Given the description of an element on the screen output the (x, y) to click on. 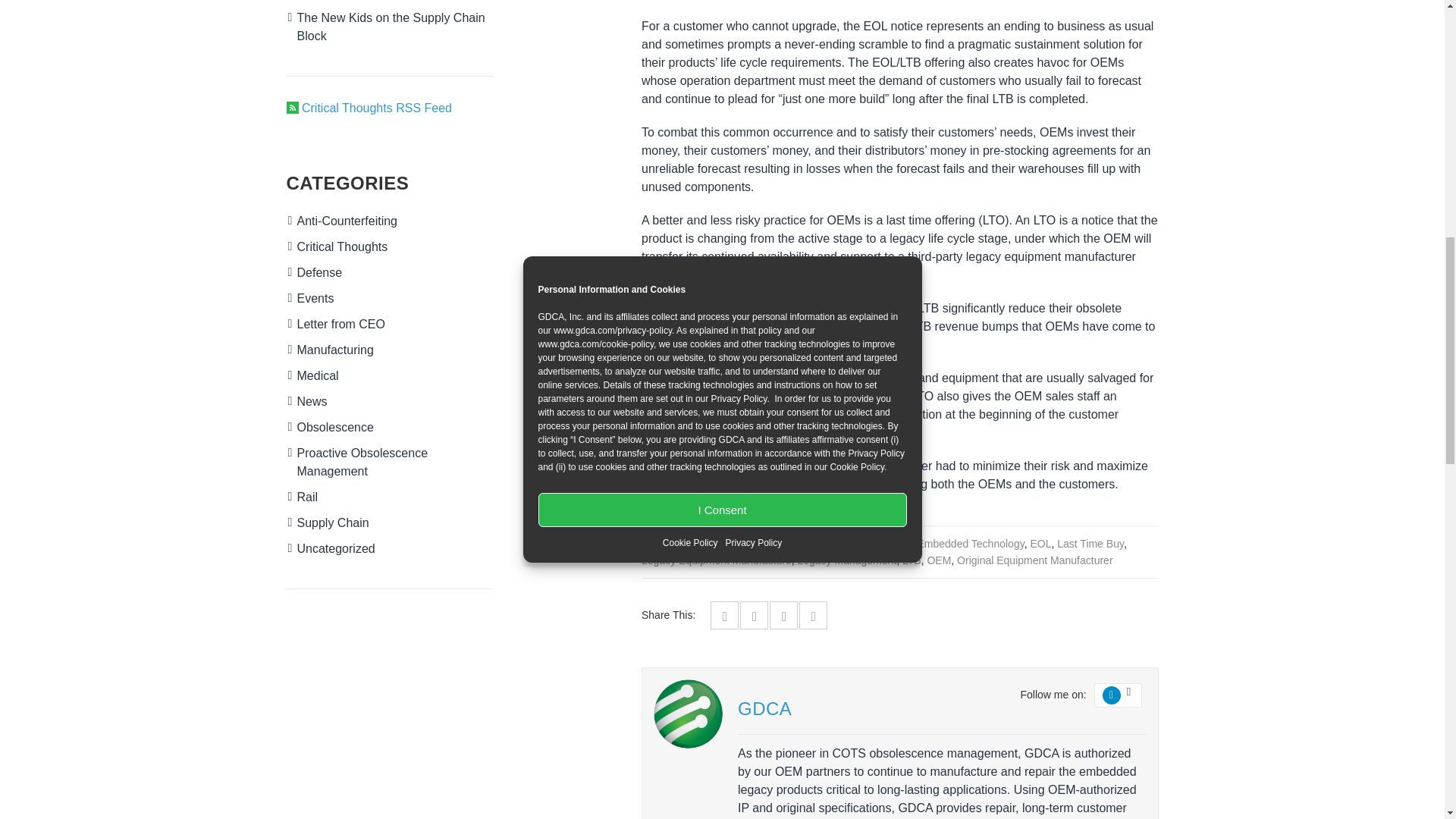
GDCA (765, 708)
Follow author GDCA on twitter (1111, 695)
Google (783, 616)
GDCA (687, 713)
Twitter (754, 616)
Facebook (724, 616)
Email (813, 616)
